Given the description of an element on the screen output the (x, y) to click on. 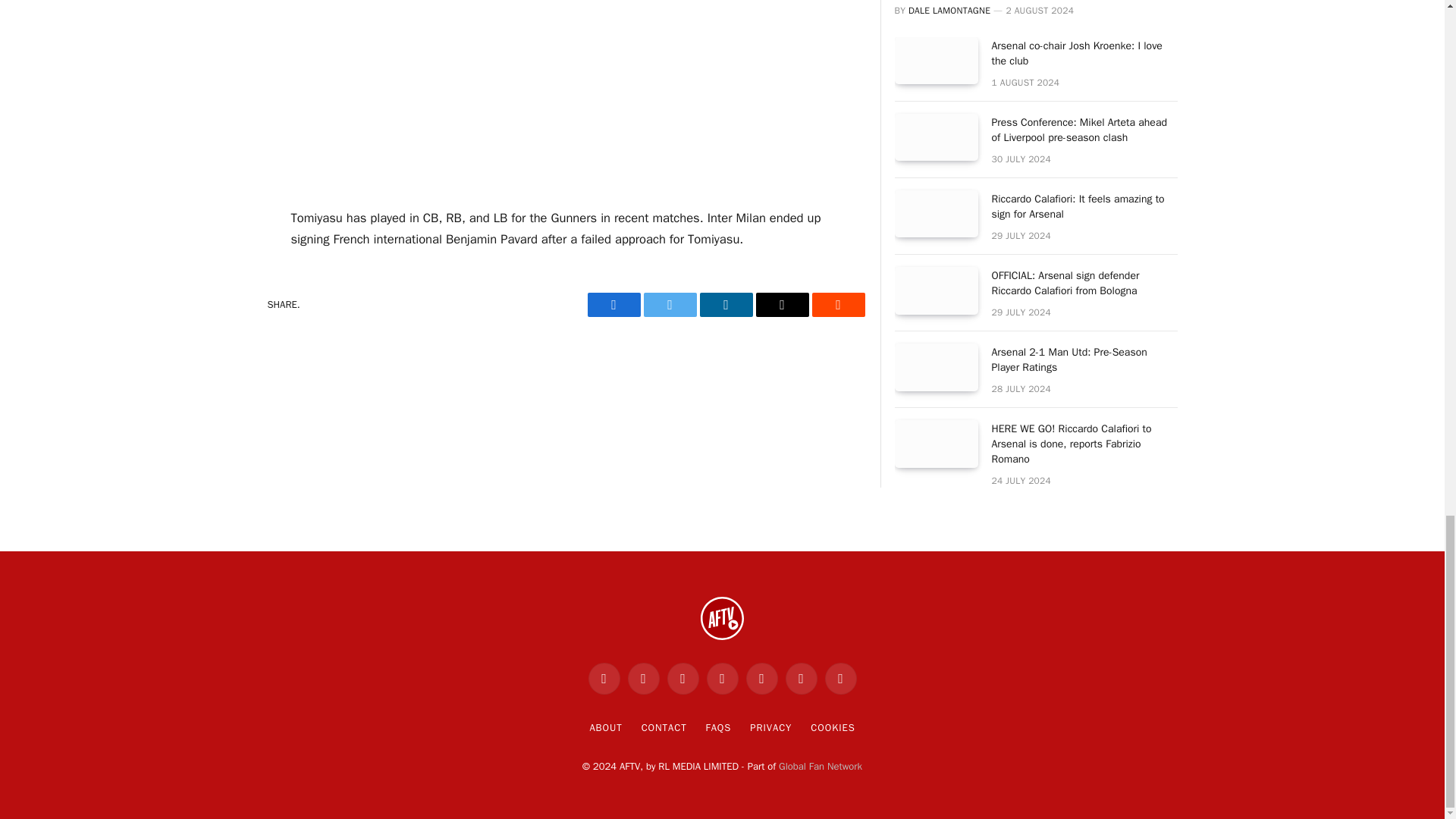
Share on LinkedIn (725, 304)
Posts by Dale Lamontagne (949, 10)
Share via Email (781, 304)
Share on Facebook (613, 304)
Share on Reddit (837, 304)
